Given the description of an element on the screen output the (x, y) to click on. 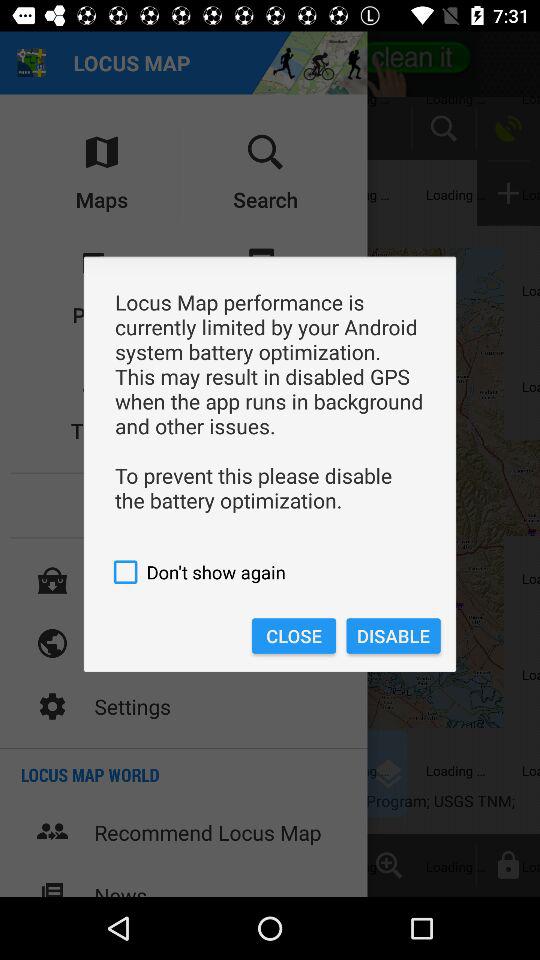
swipe to the disable icon (393, 635)
